Given the description of an element on the screen output the (x, y) to click on. 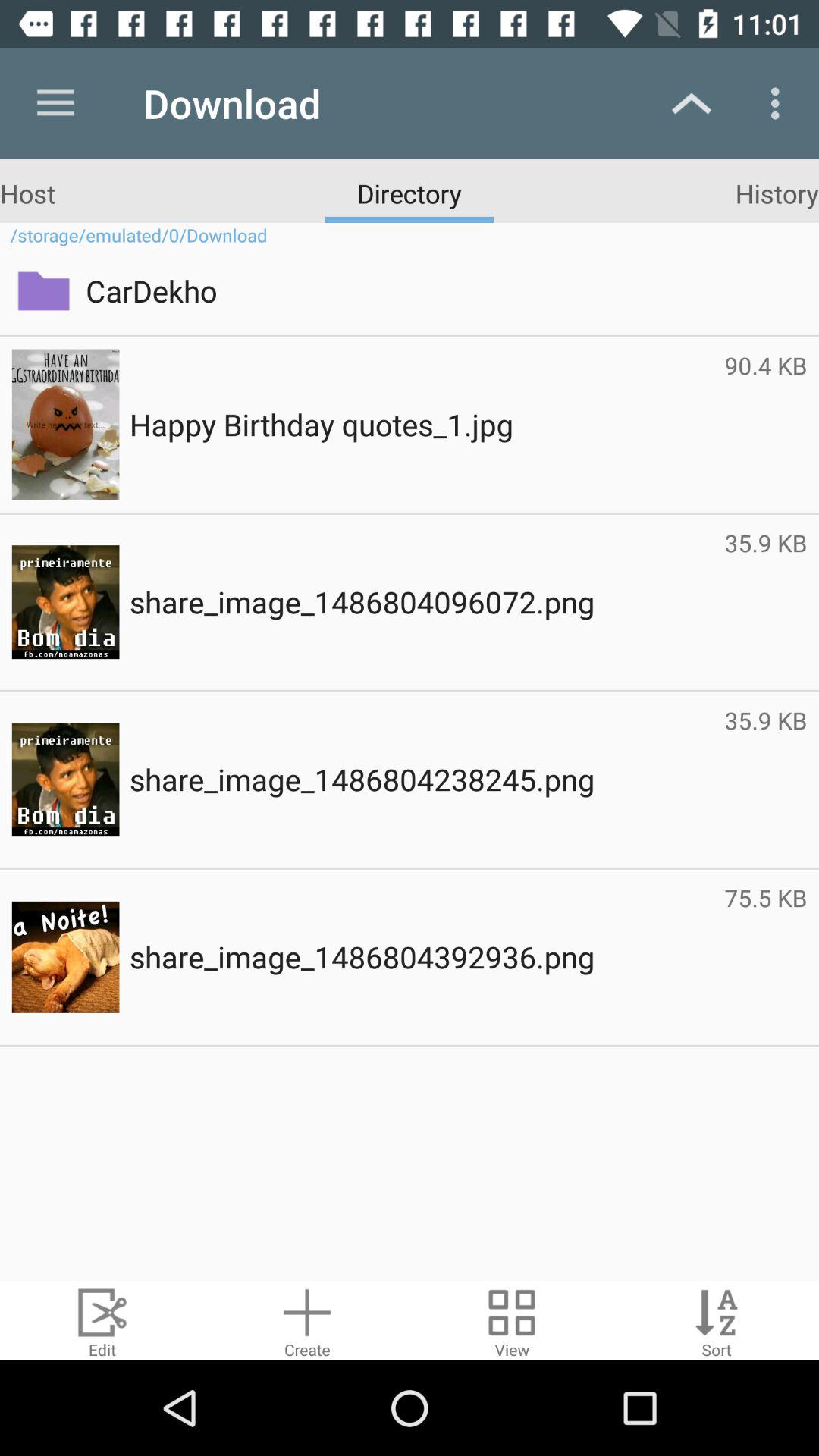
create file (306, 1320)
